Given the description of an element on the screen output the (x, y) to click on. 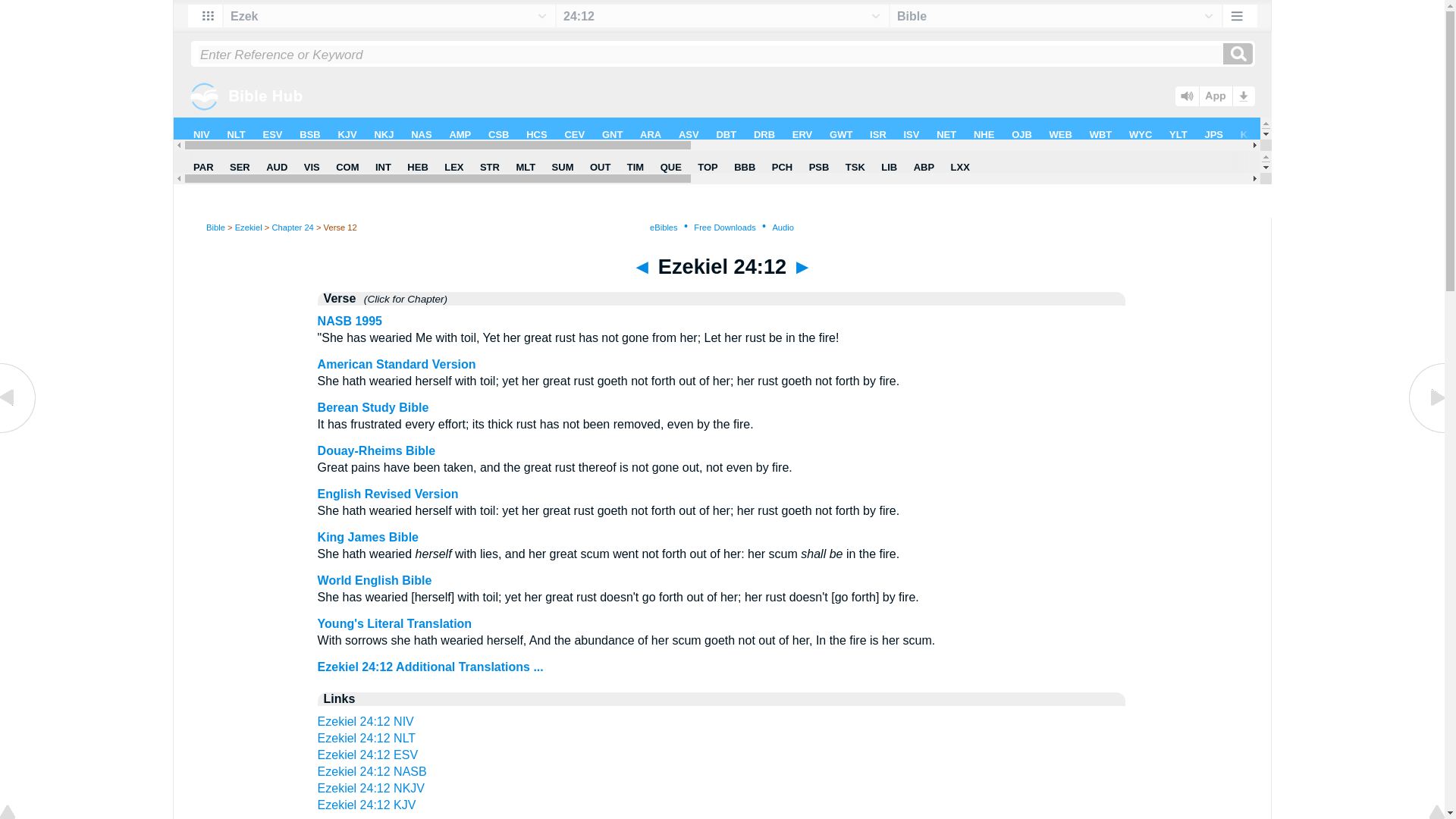
Ezekiel (248, 226)
English Revised Version (387, 493)
Ezekiel 24:12 NLT (366, 738)
Chapter 24 (291, 226)
Young's Literal Translation (394, 623)
World English Bible (374, 580)
Berean Study Bible (373, 407)
NASB 1995 (349, 320)
Ezekiel 24:12 NIV (365, 721)
American Standard Version (396, 364)
Ezekiel 24:12 Additional Translations ... (430, 666)
King James Bible (368, 536)
Bible (215, 226)
Ezekiel 24:12 KJV (366, 804)
Click any translation name for full chapter (400, 298)
